Given the description of an element on the screen output the (x, y) to click on. 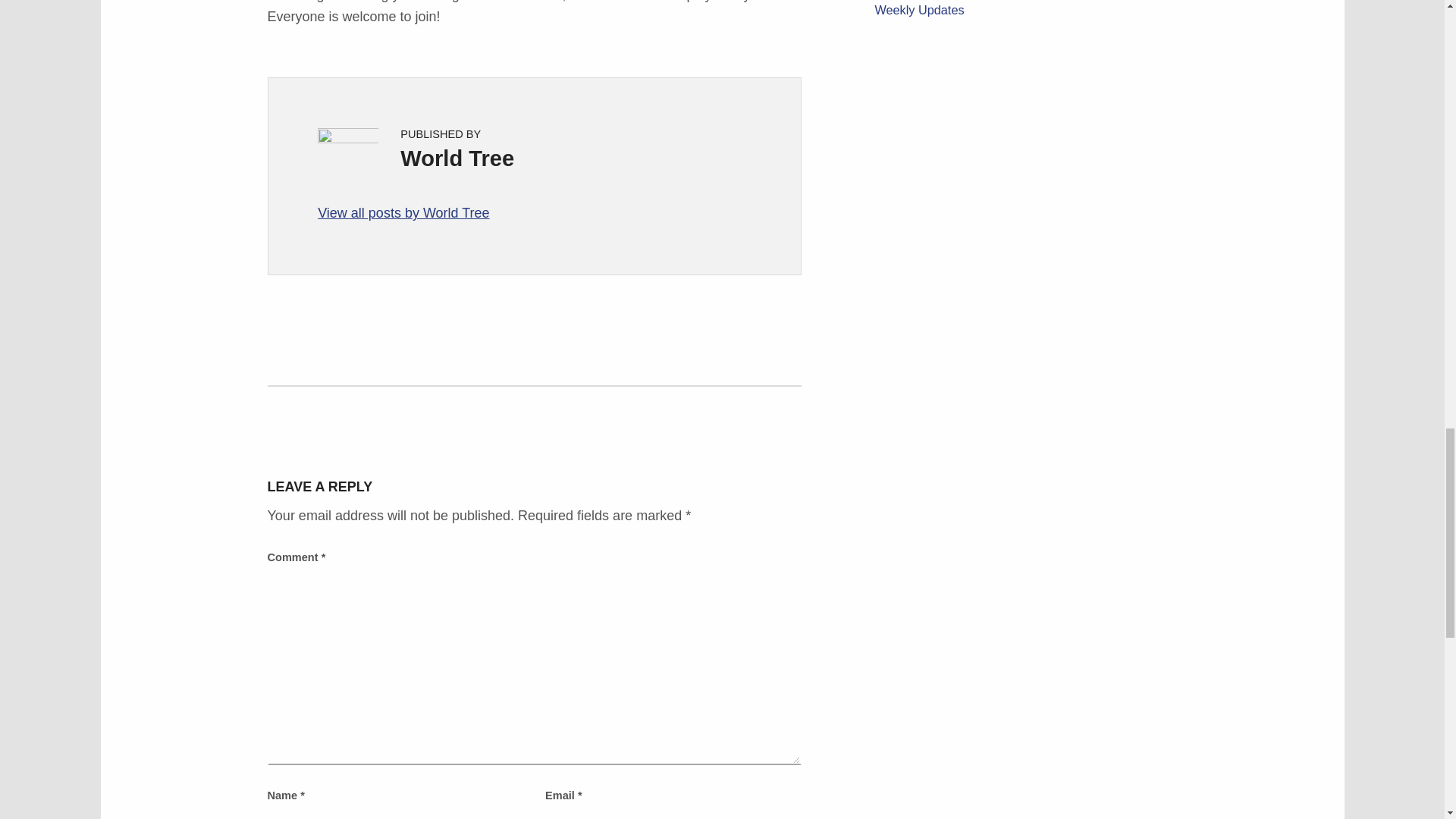
View all posts by World Tree (534, 213)
